Given the description of an element on the screen output the (x, y) to click on. 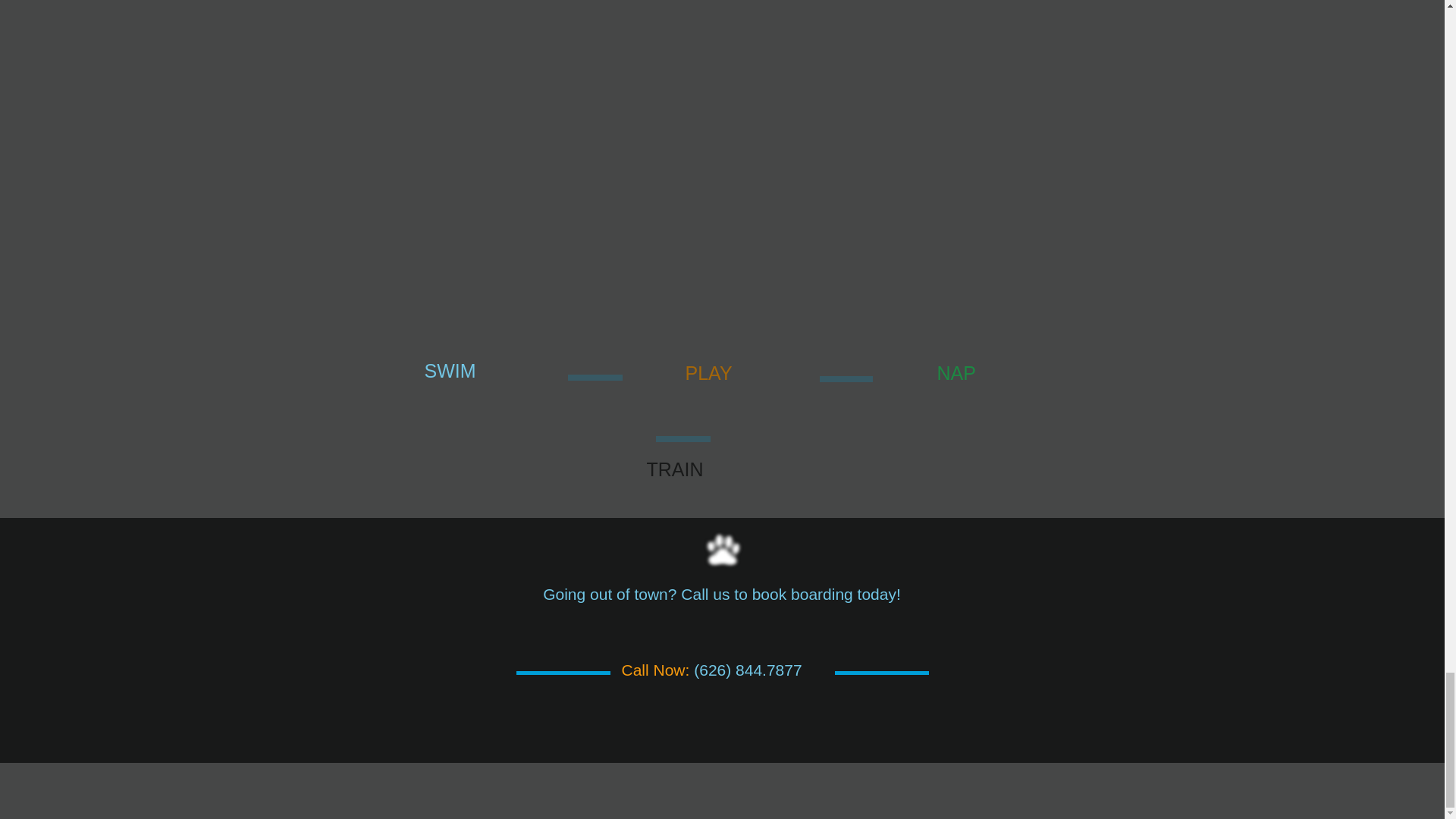
NAP (956, 373)
PLAY (708, 373)
TRAIN (674, 468)
SWIM (450, 370)
